Given the description of an element on the screen output the (x, y) to click on. 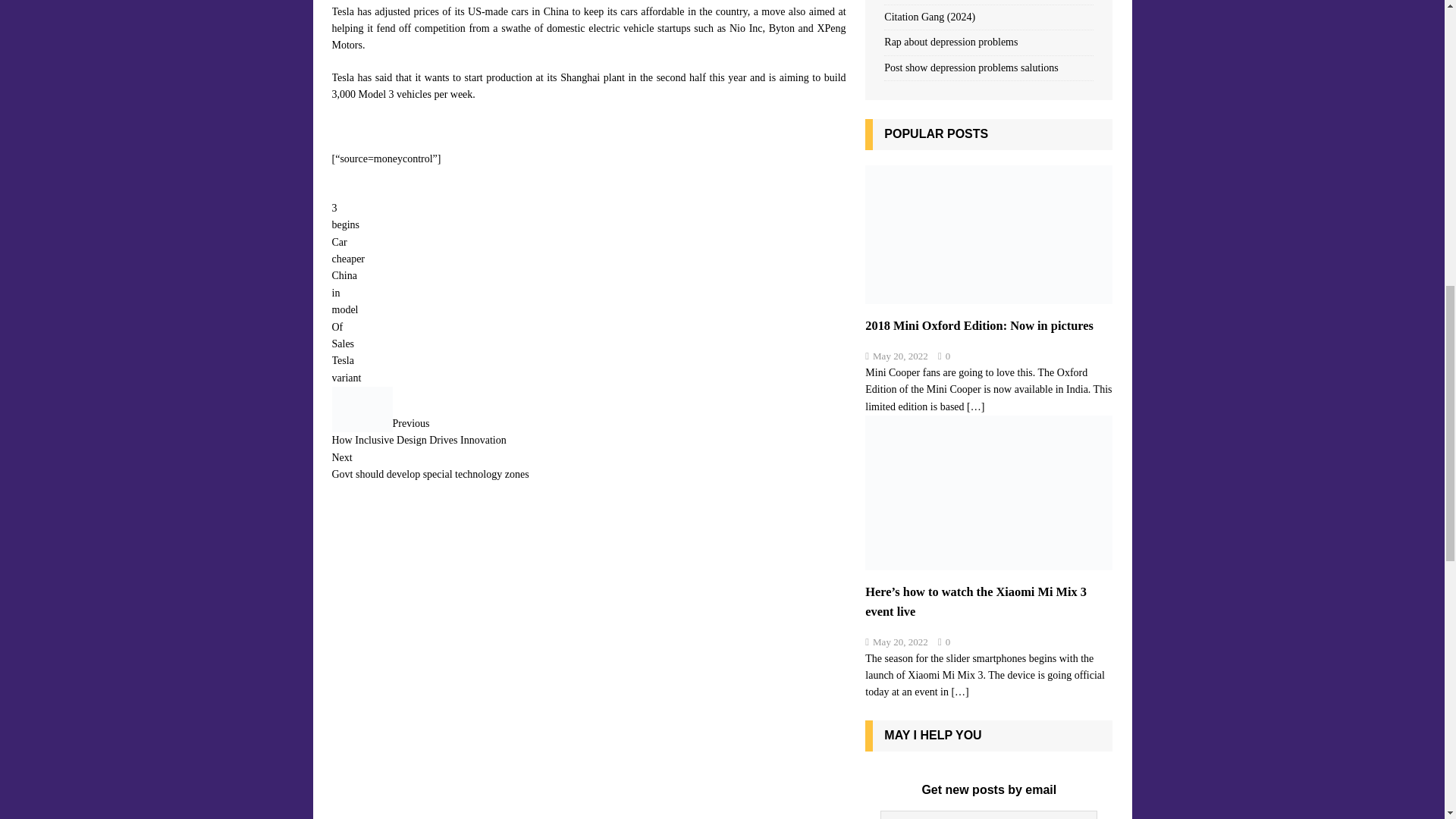
Car (588, 468)
Sales (339, 242)
China (343, 343)
model (343, 275)
3 (344, 309)
cheaper (334, 207)
variant (348, 258)
begins (346, 378)
2018 Mini Oxford Edition: Now in pictures (345, 224)
2018 Mini Oxford Edition: Now in pictures (975, 406)
Tesla (988, 295)
in (342, 360)
2018 Mini Oxford Edition: Now in pictures (588, 433)
